Given the description of an element on the screen output the (x, y) to click on. 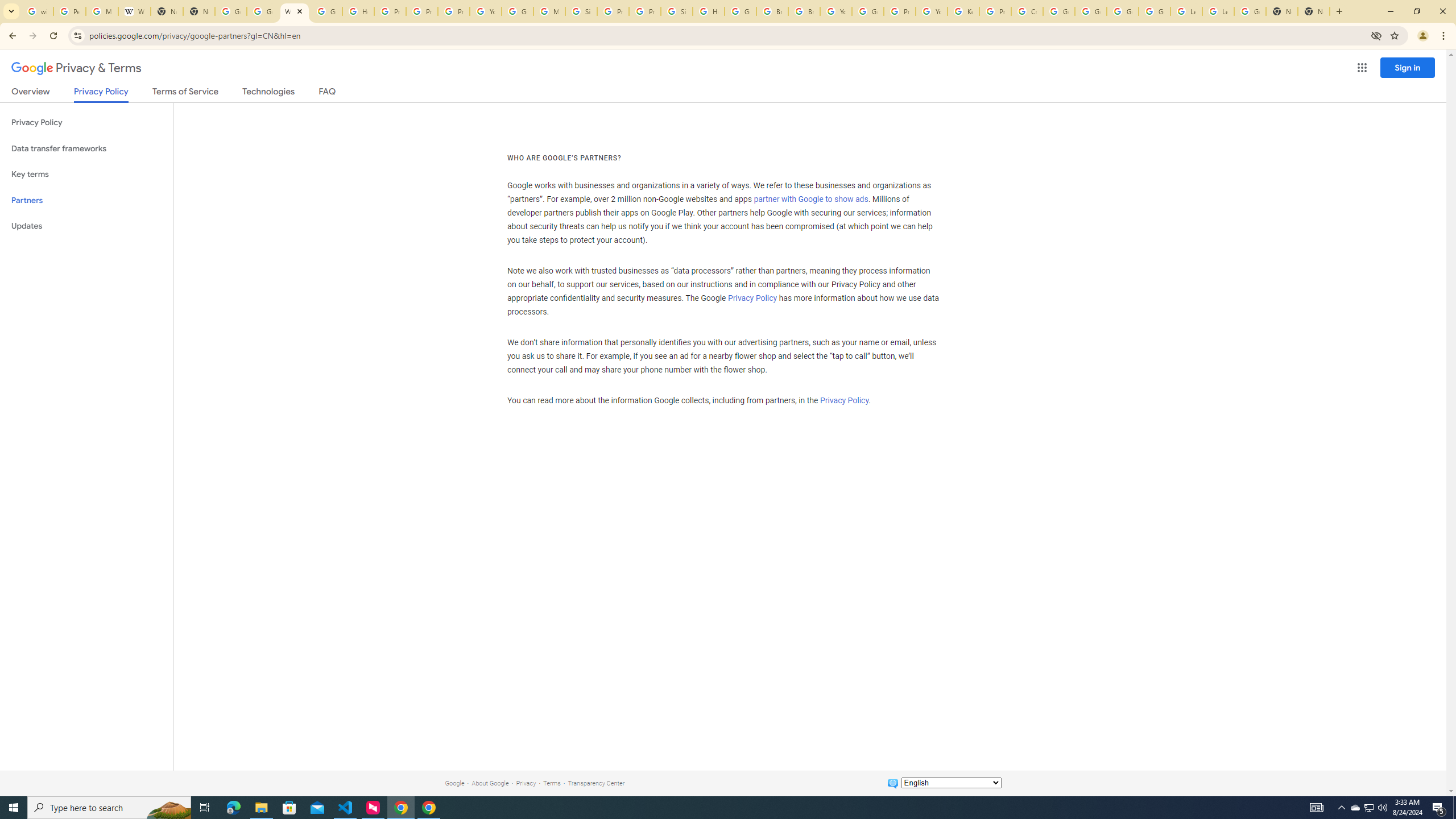
YouTube (931, 11)
About Google (490, 783)
Personalization & Google Search results - Google Search Help (69, 11)
Brand Resource Center (772, 11)
